Given the description of an element on the screen output the (x, y) to click on. 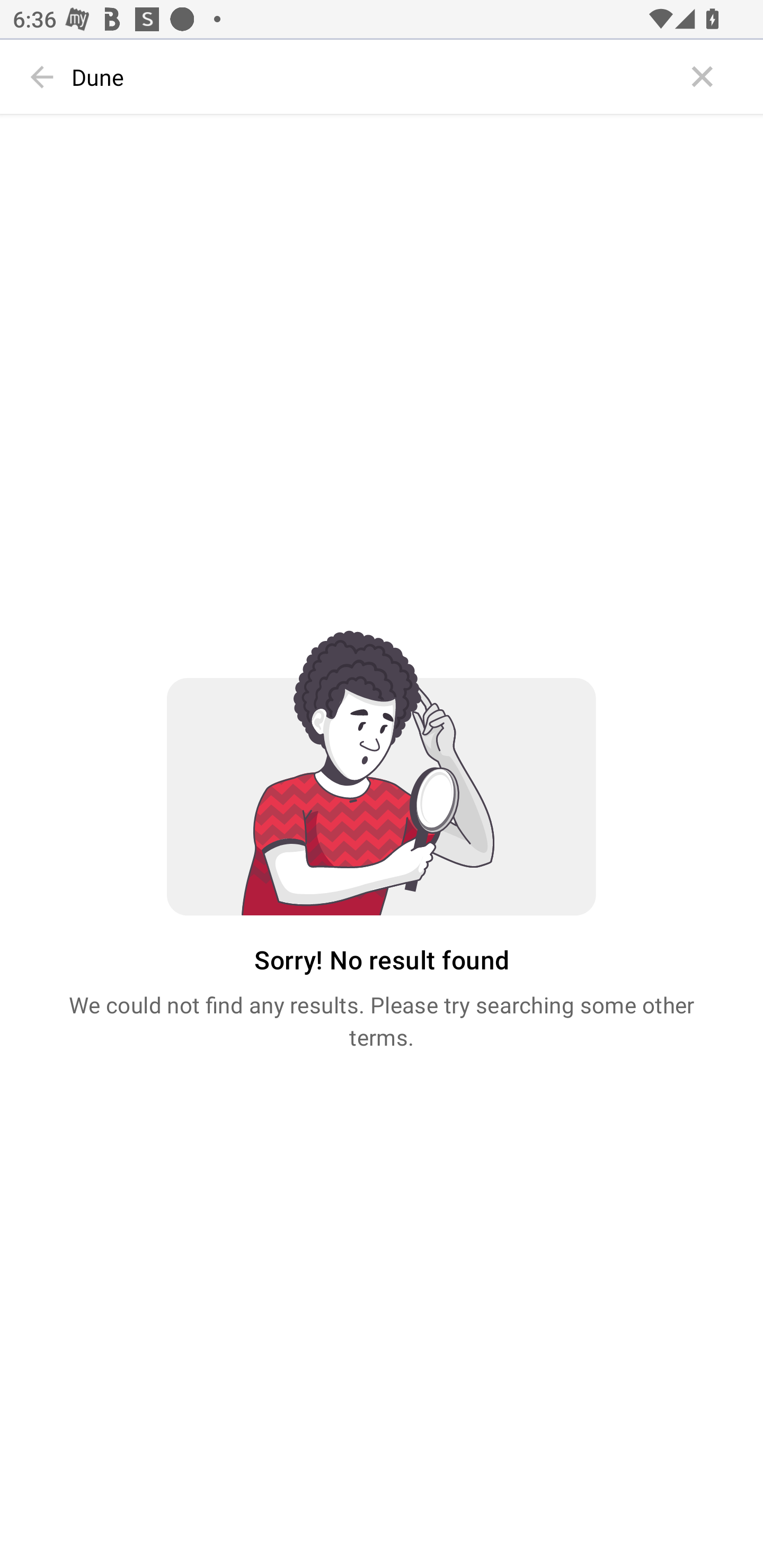
Back (42, 76)
Dune (373, 76)
Close (702, 76)
